Given the description of an element on the screen output the (x, y) to click on. 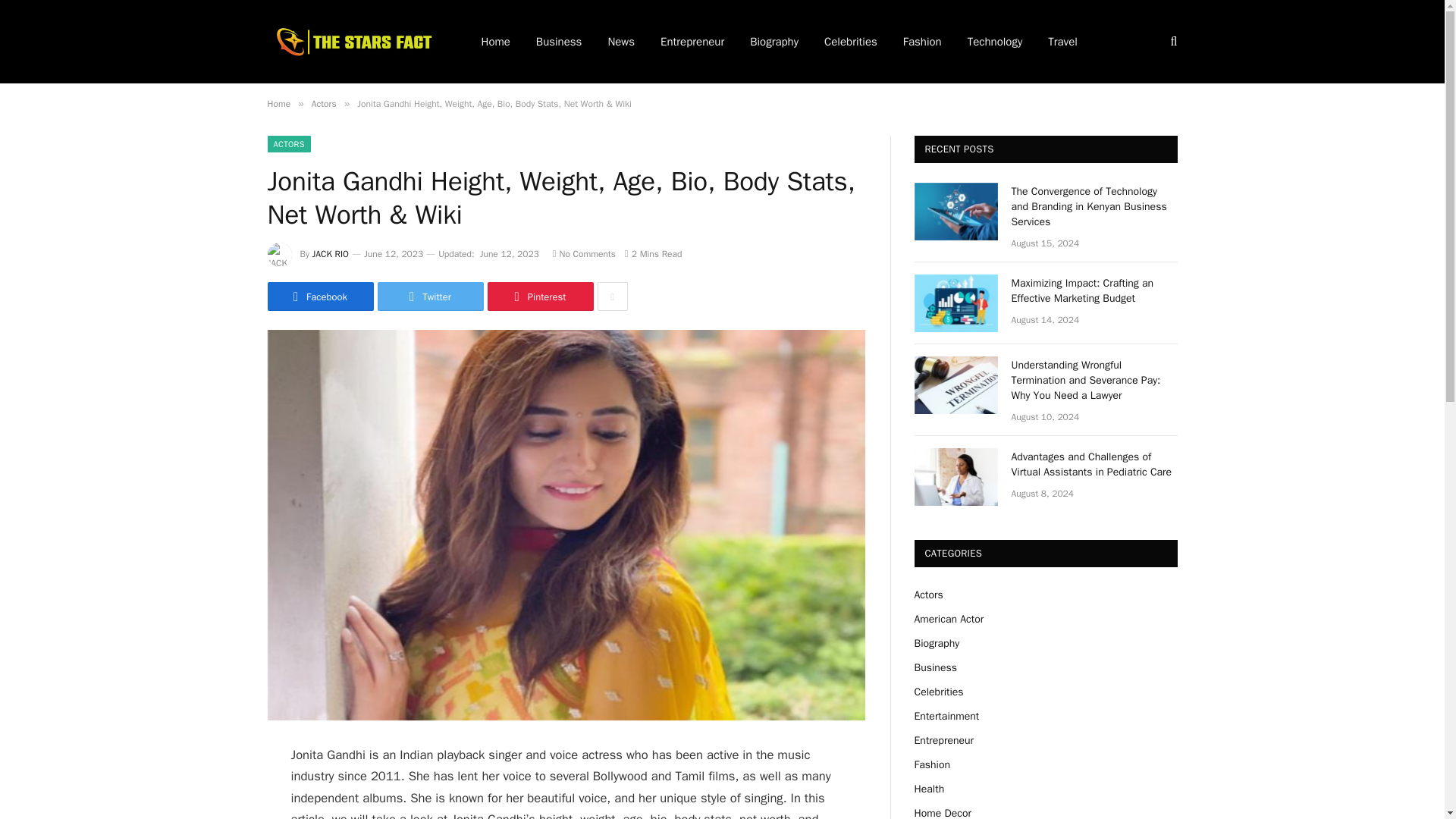
Home (277, 103)
Twitter (430, 296)
JACK RIO (331, 254)
No Comments (584, 254)
Pinterest (539, 296)
Share on Pinterest (539, 296)
Posts by JACK RIO (331, 254)
ACTORS (288, 143)
Share on Facebook (319, 296)
Actors (323, 103)
